Given the description of an element on the screen output the (x, y) to click on. 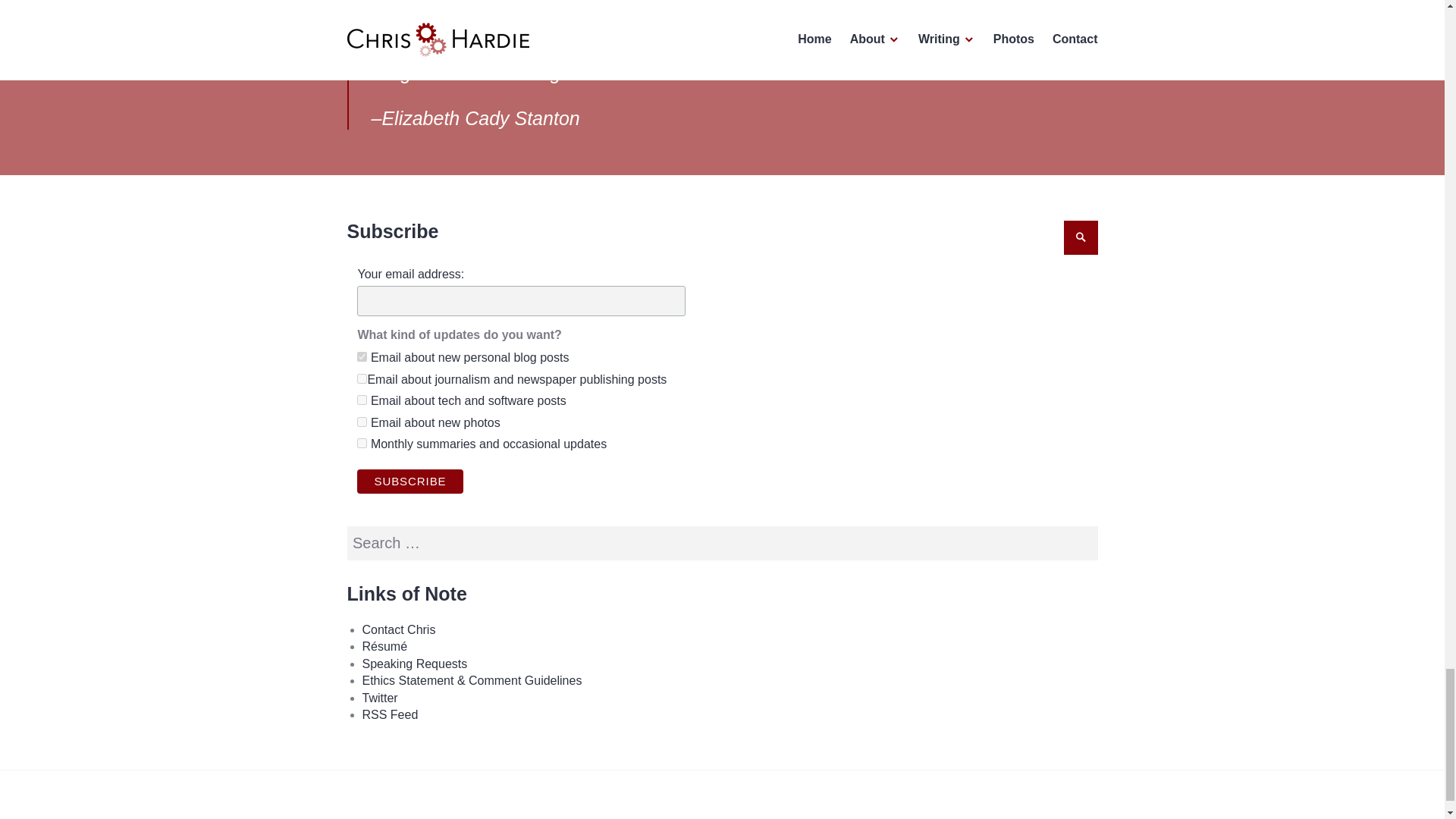
4 (361, 421)
Subscribe (409, 481)
1 (361, 356)
8 (361, 399)
2 (361, 442)
Search for: (722, 543)
